Given the description of an element on the screen output the (x, y) to click on. 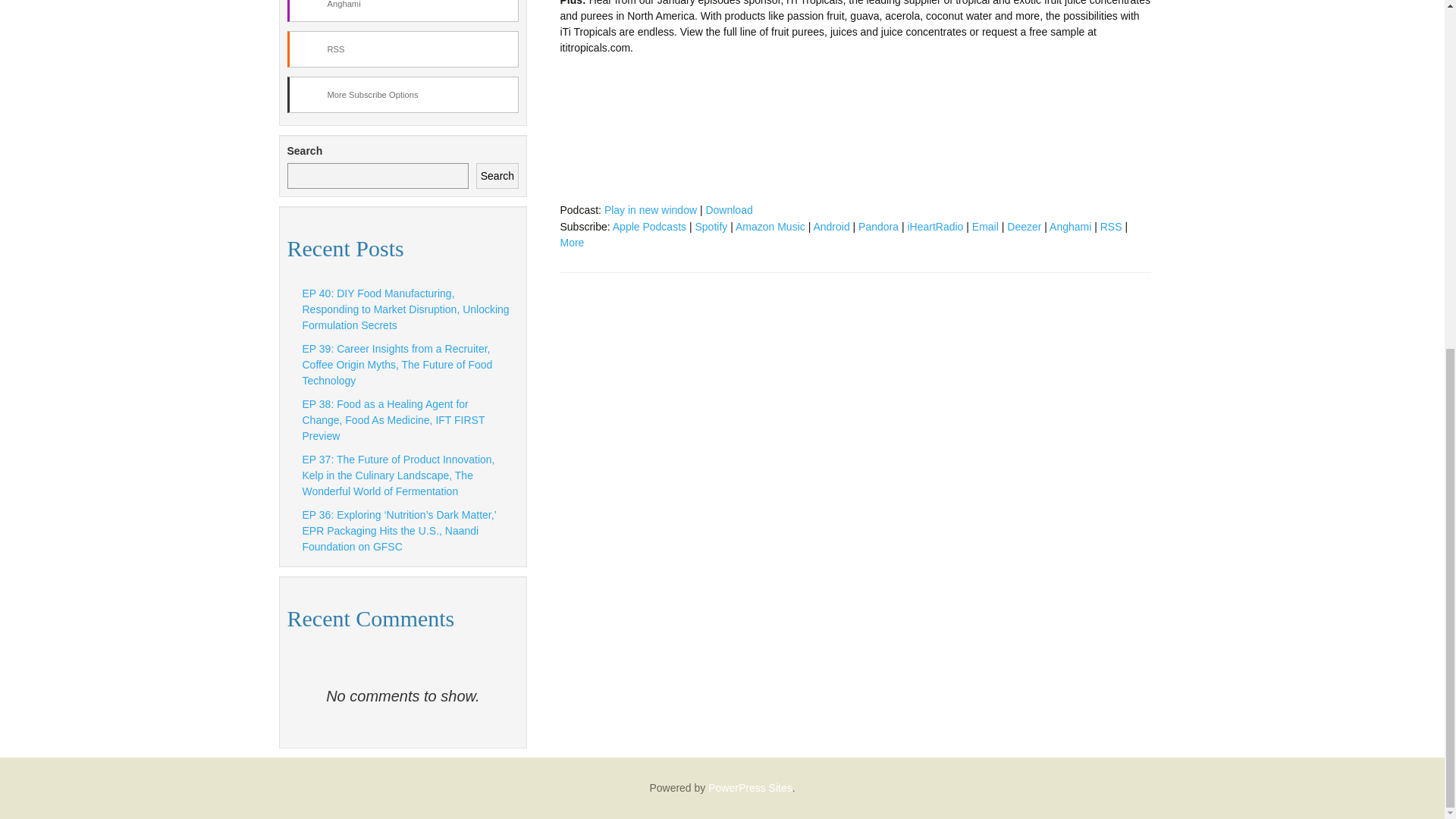
Subscribe on Spotify (710, 226)
Subscribe on Deezer (1024, 226)
Subscribe on Amazon Music (770, 226)
Subscribe on Apple Podcasts (648, 226)
Subscribe on Pandora (878, 226)
Blubrry Podcast Player (854, 131)
Download (728, 209)
Subscribe on Android (830, 226)
Subscribe on iHeartRadio (934, 226)
Subscribe on Anghami (1069, 226)
Subscribe via RSS (1111, 226)
Play in new window (650, 209)
Subscribe by Email (985, 226)
More (571, 242)
